Given the description of an element on the screen output the (x, y) to click on. 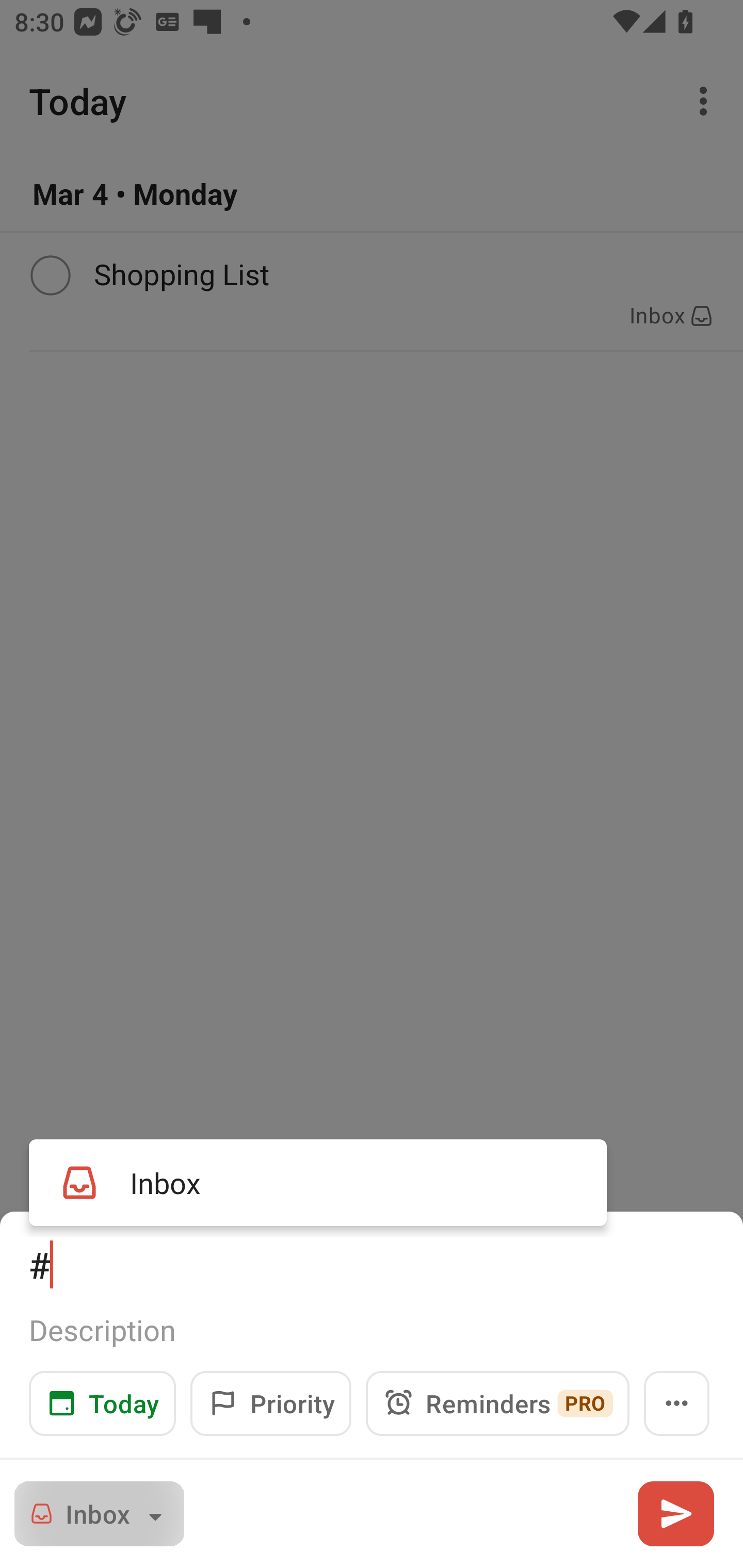
# (371, 1264)
Description (371, 1330)
Today Date (102, 1403)
Priority (270, 1403)
Reminders PRO Reminders (497, 1403)
Open menu (676, 1403)
Inbox Project (99, 1513)
Add (675, 1513)
